Given the description of an element on the screen output the (x, y) to click on. 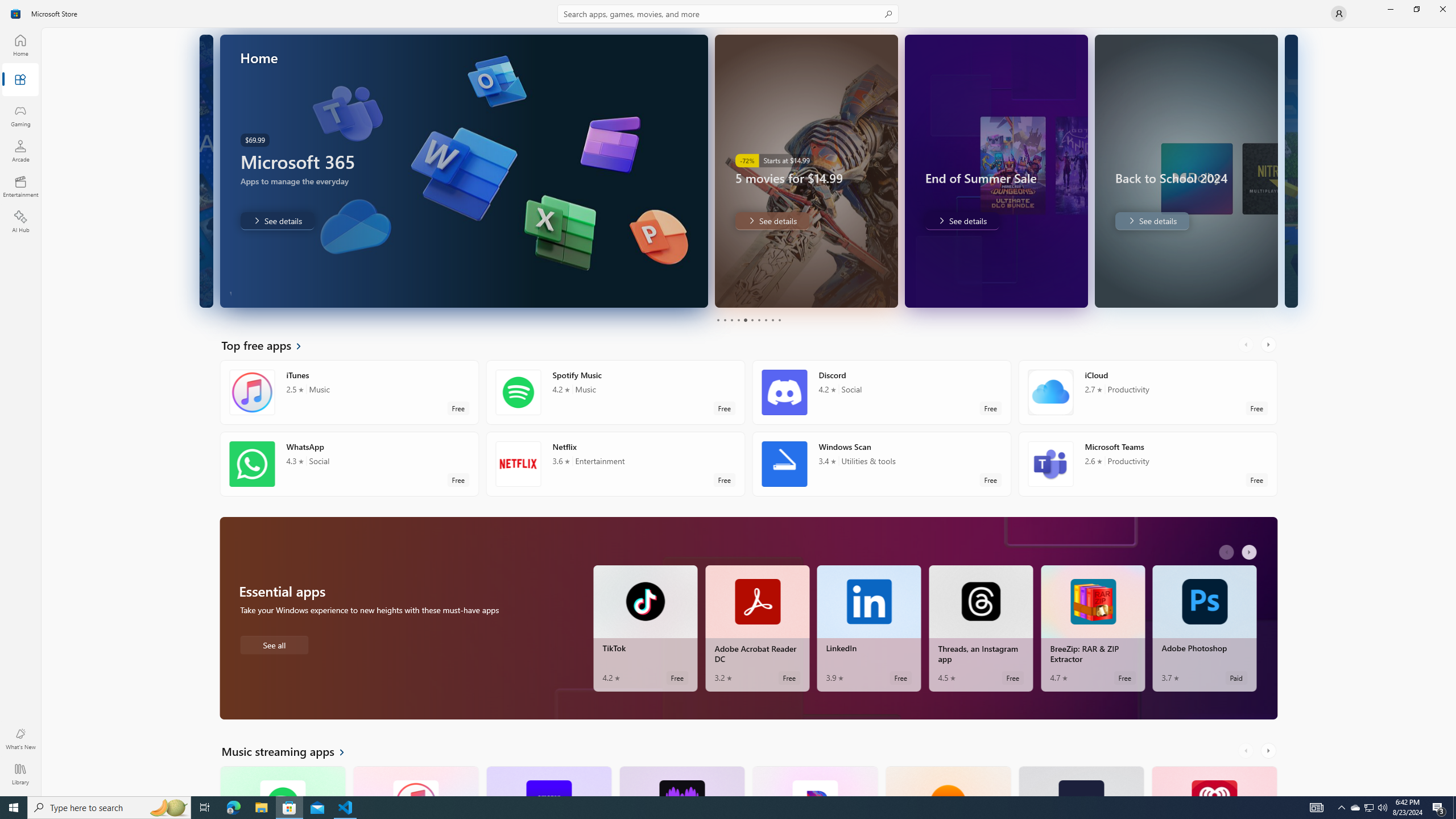
Page 7 (758, 319)
Page 8 (764, 319)
Pager (748, 319)
Page 10 (779, 319)
Page 3 (731, 319)
Page 4 (738, 319)
